Given the description of an element on the screen output the (x, y) to click on. 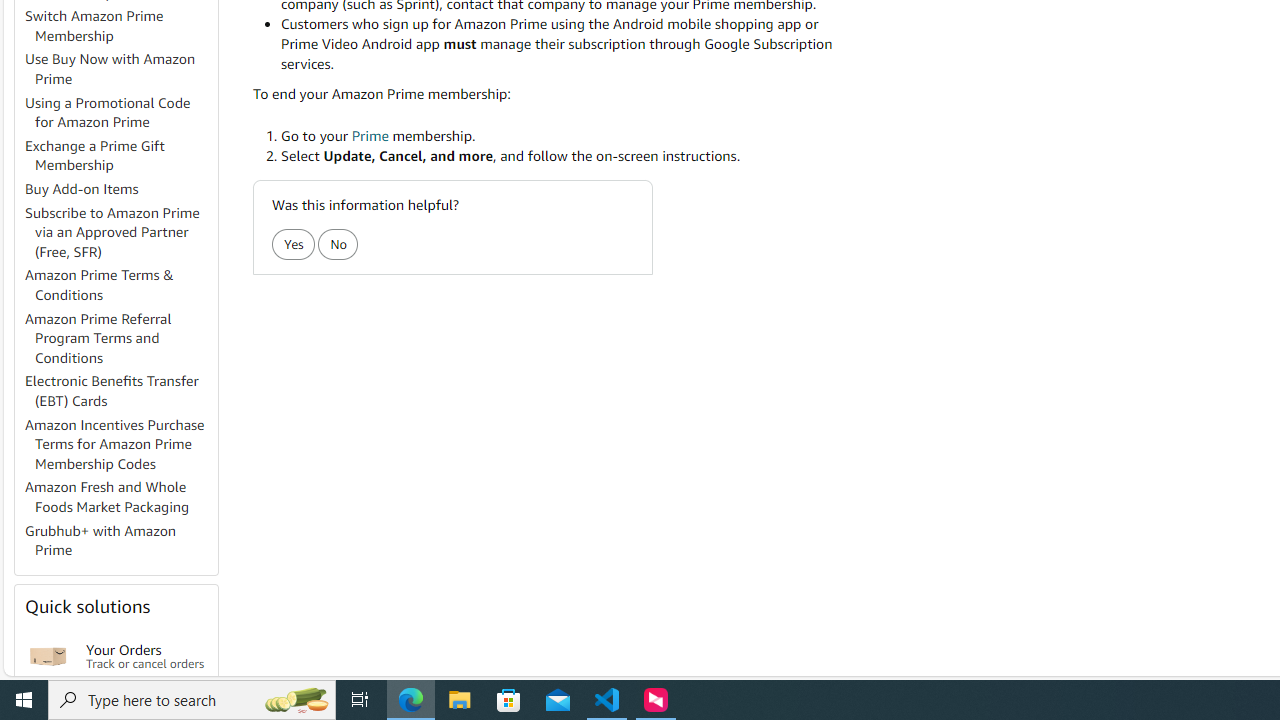
Grubhub+ with Amazon Prime (120, 540)
Prime (369, 134)
Switch Amazon Prime Membership (94, 25)
